Given the description of an element on the screen output the (x, y) to click on. 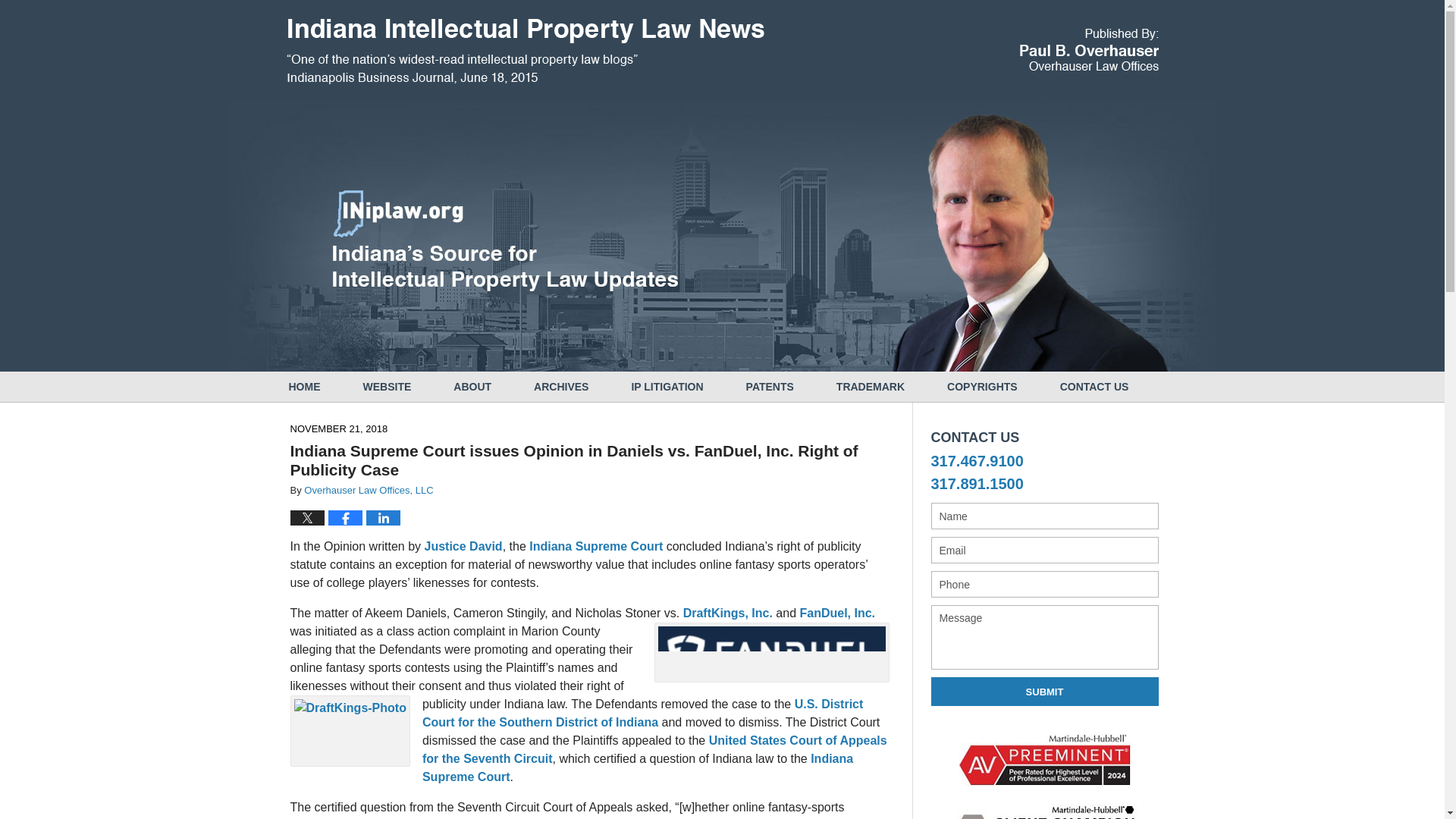
PATENTS (770, 386)
DraftKings, Inc. (727, 612)
Published By Overhauser Law Offices, LLC (1088, 49)
ARCHIVES (561, 386)
IP LITIGATION (666, 386)
WEBSITE (386, 386)
Please enter a valid phone number. (1044, 583)
FanDuel, Inc. (837, 612)
ABOUT (472, 386)
Overhauser Law Offices, LLC (368, 490)
